Given the description of an element on the screen output the (x, y) to click on. 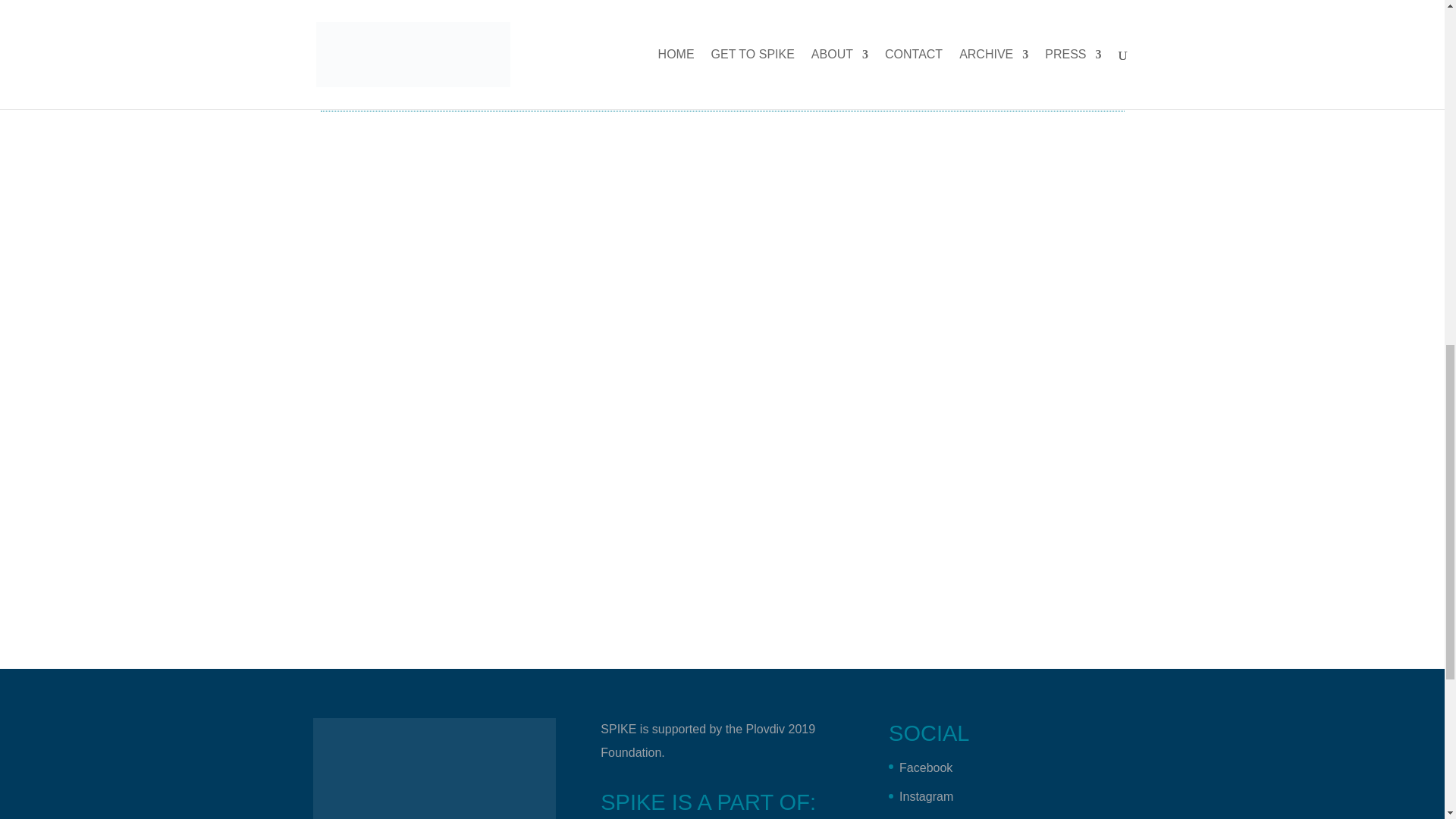
Follow on Instagram (700, 0)
Follow on Facebook (670, 0)
Follow on Youtube (761, 0)
Follow on Spotify (730, 0)
therealsatch.com (704, 29)
